Given the description of an element on the screen output the (x, y) to click on. 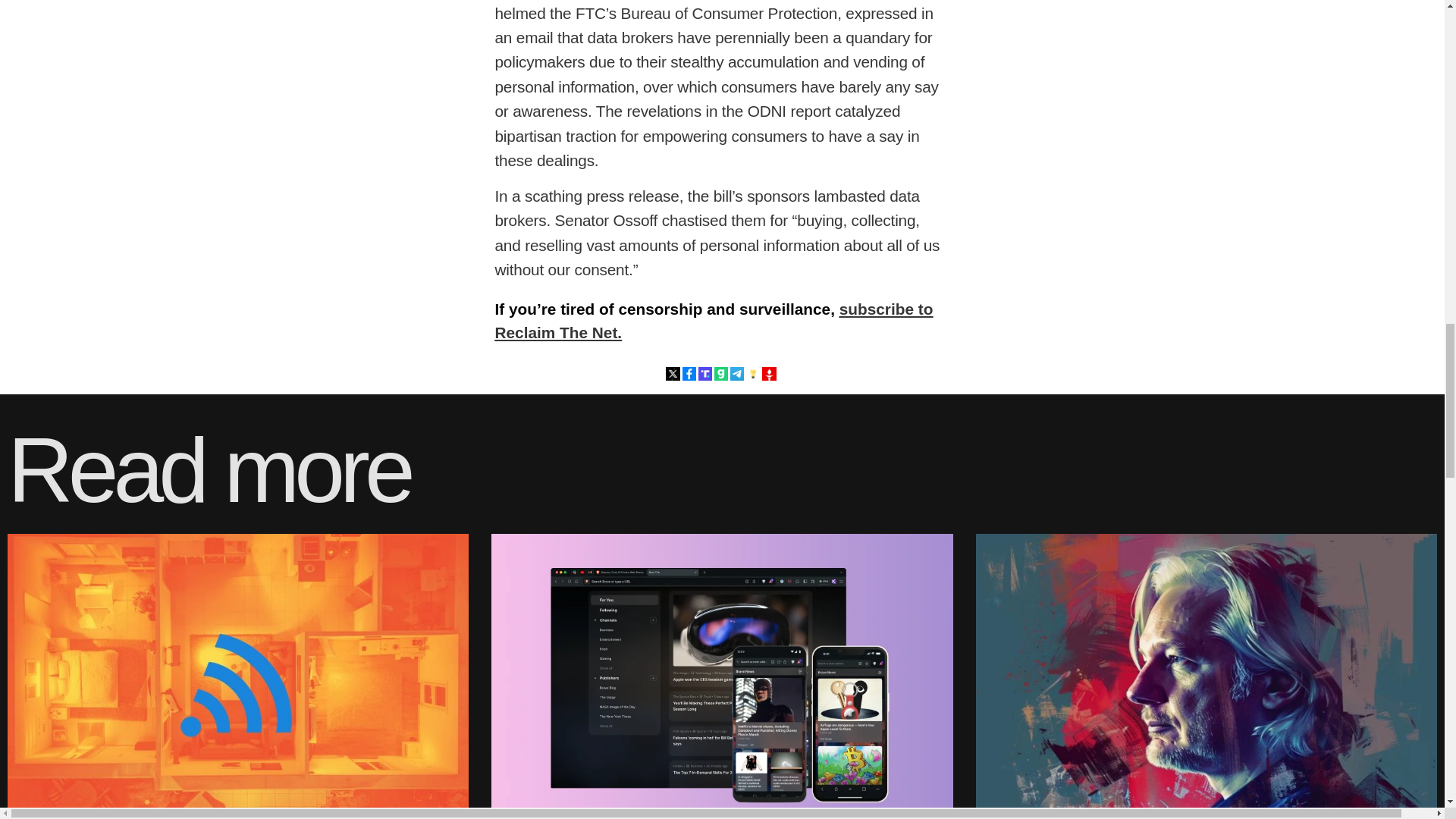
subscribe to Reclaim The Net. (714, 320)
